Given the description of an element on the screen output the (x, y) to click on. 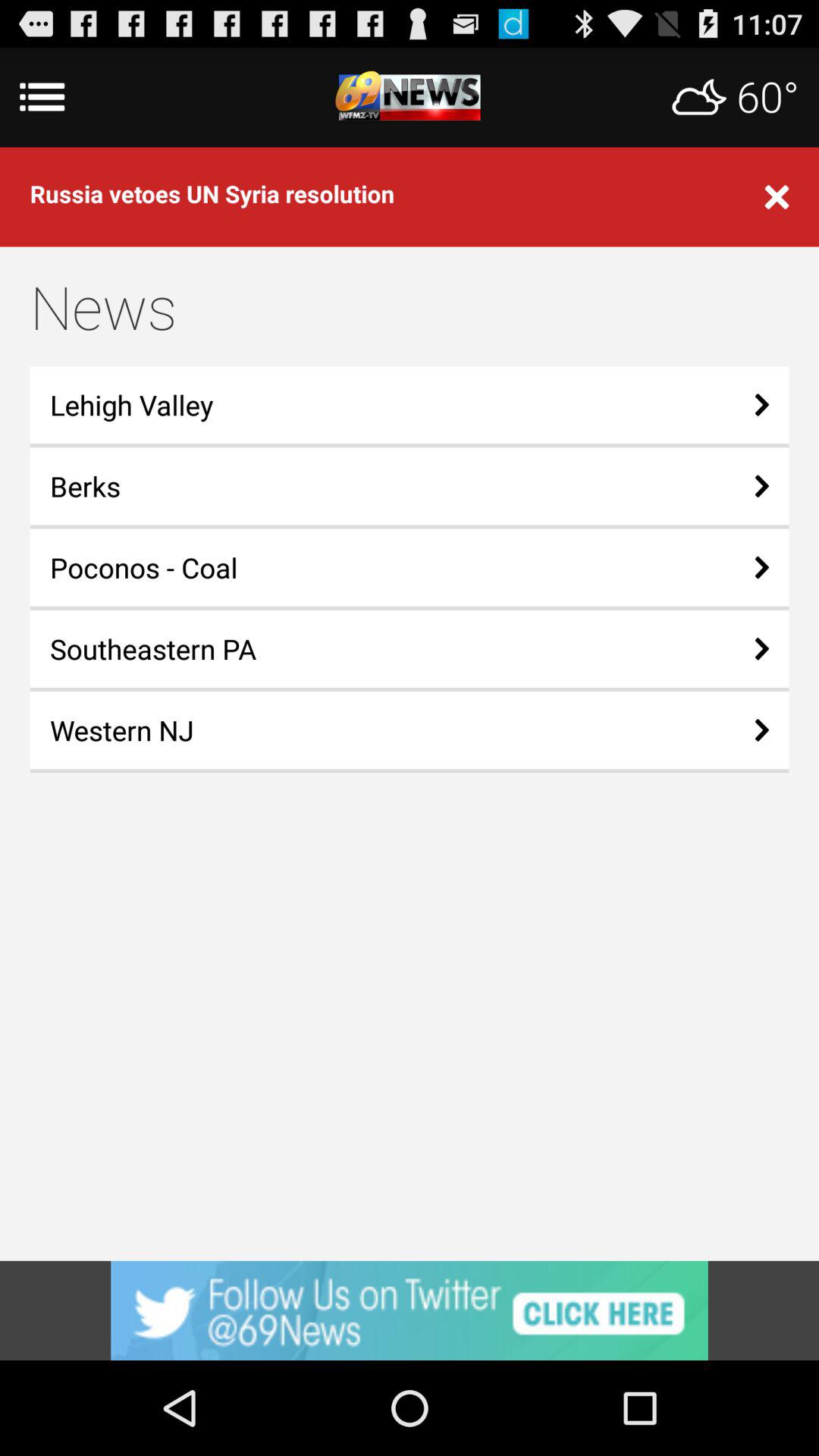
advertisement button (409, 1310)
